Given the description of an element on the screen output the (x, y) to click on. 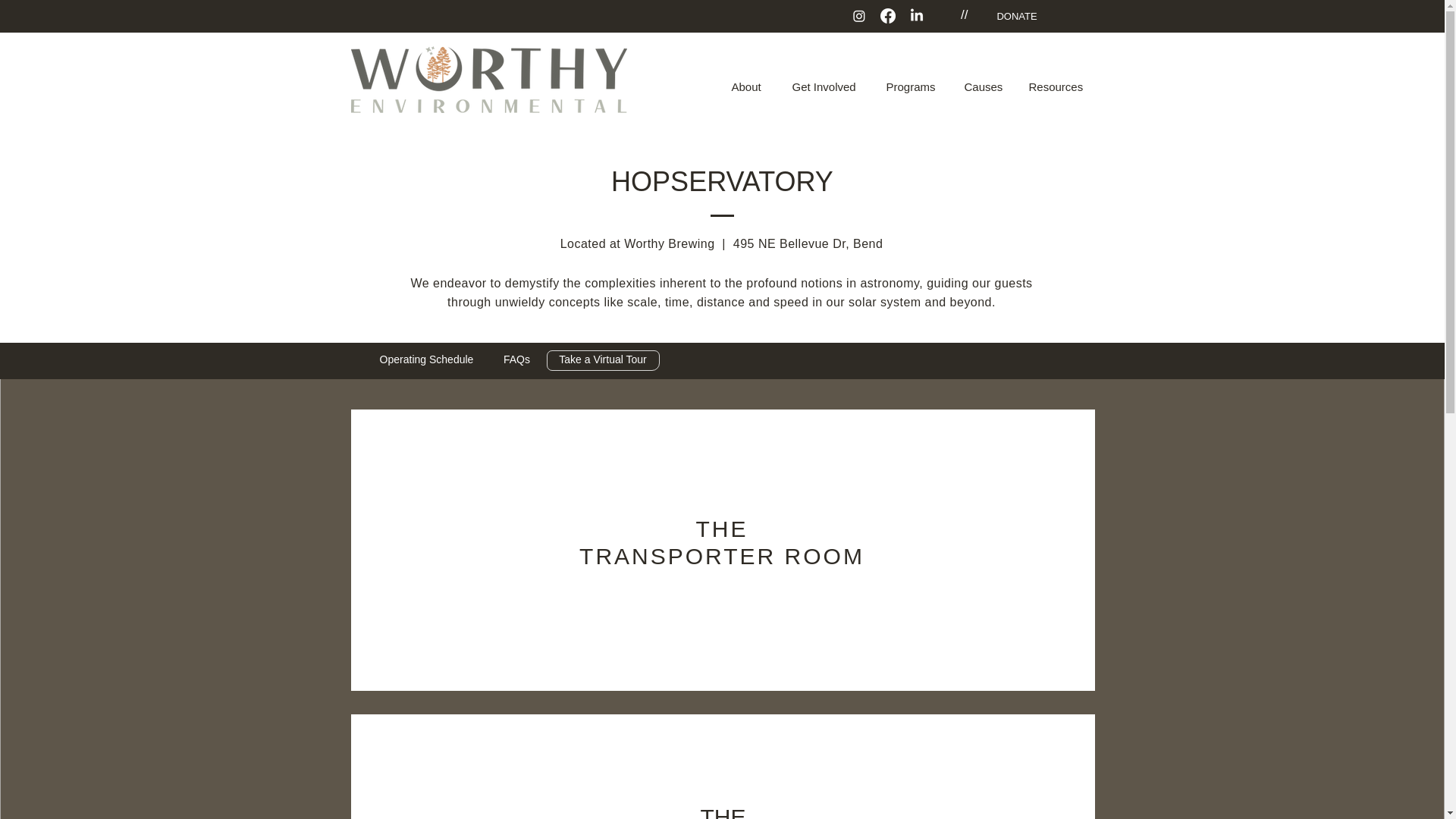
Take a Virtual Tour (602, 360)
DONATE (1016, 15)
Operating Schedule (425, 360)
FAQs (516, 360)
Resources (1056, 79)
About (750, 79)
